Given the description of an element on the screen output the (x, y) to click on. 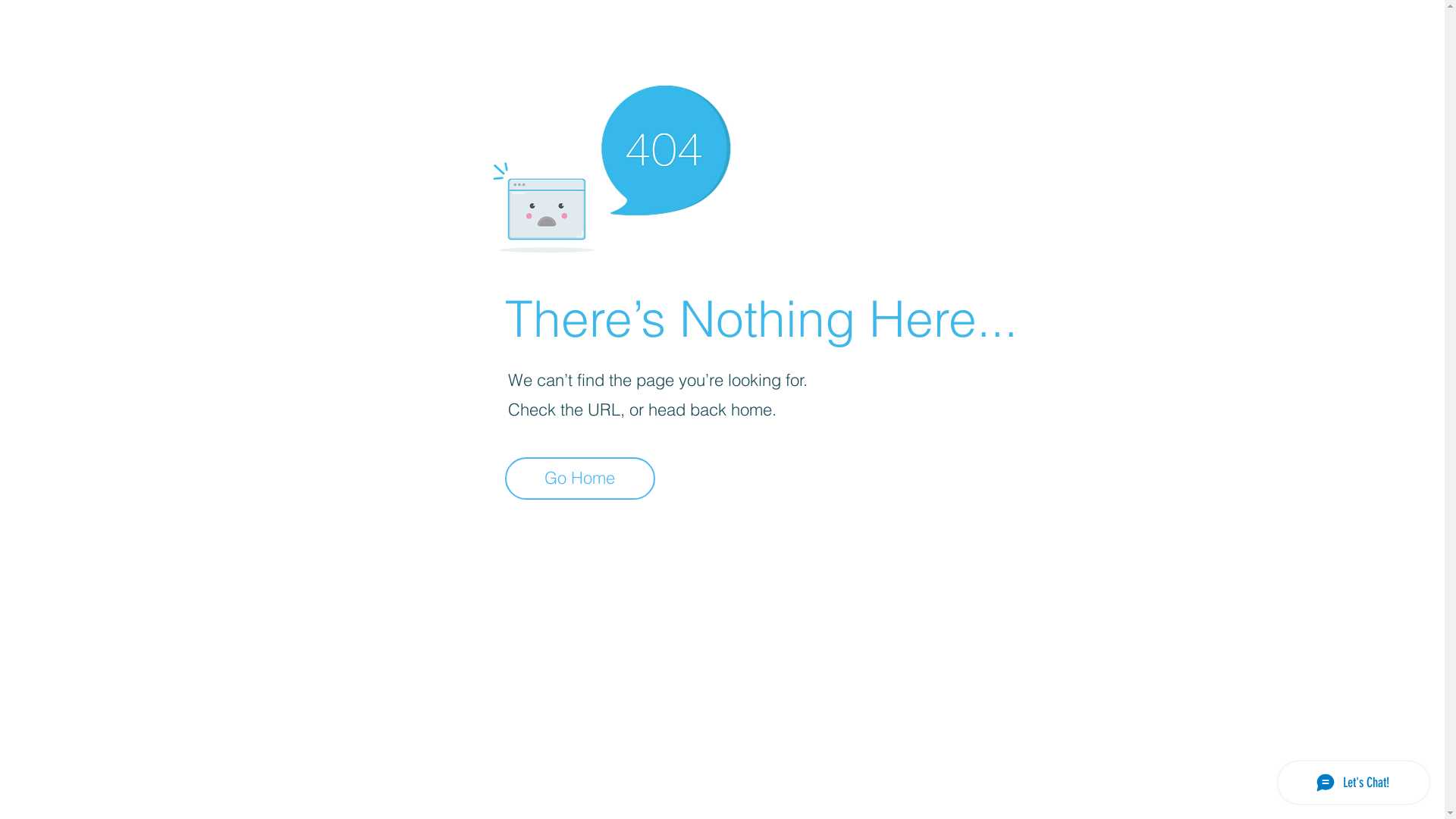
Go Home Element type: text (580, 478)
404-icon_2.png Element type: hover (610, 164)
